Given the description of an element on the screen output the (x, y) to click on. 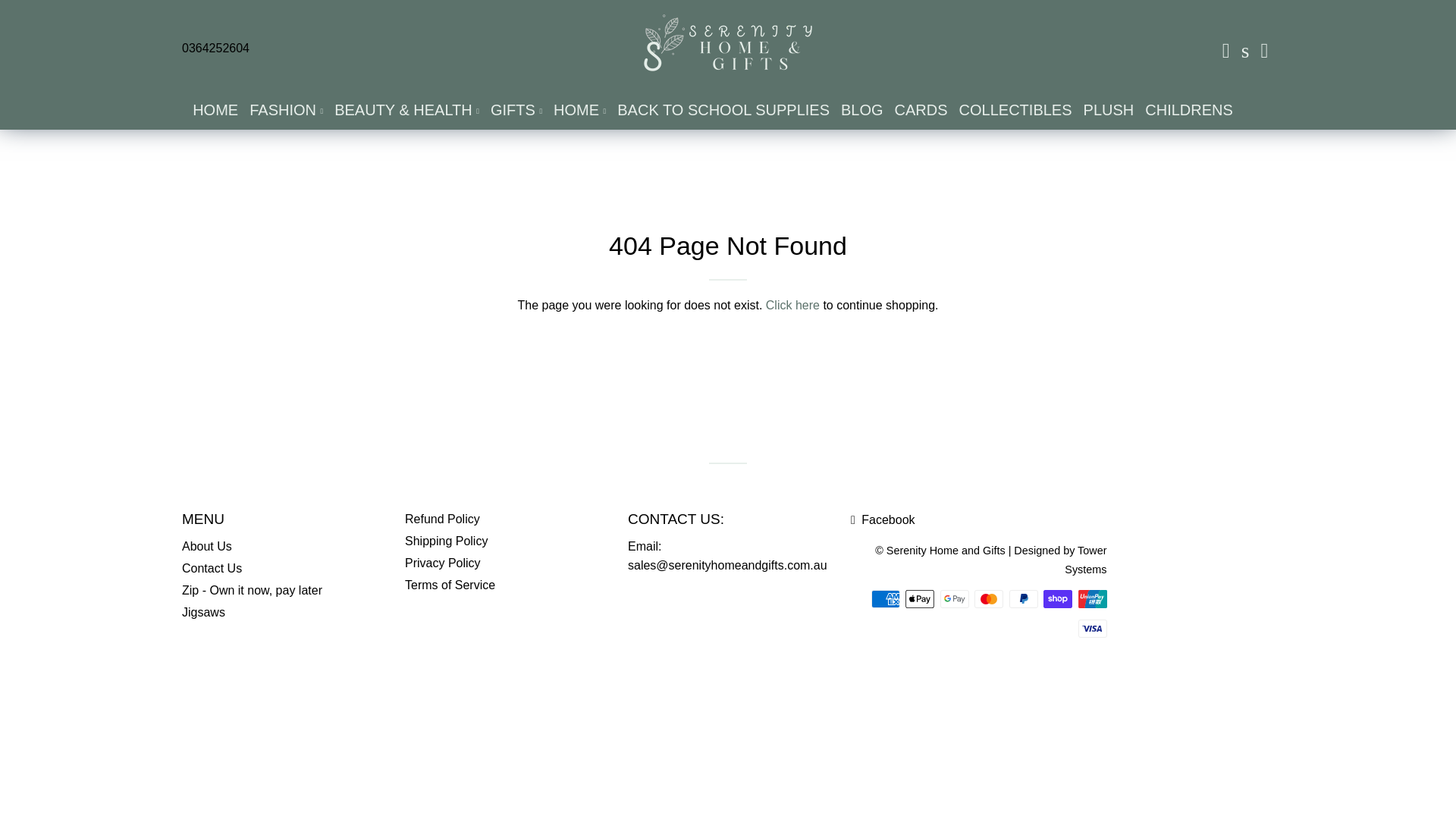
Apple Pay (919, 598)
American Express (884, 598)
Visa (1092, 628)
Mastercard (988, 598)
Google Pay (954, 598)
Union Pay (1092, 598)
Shop Pay (1057, 598)
PayPal (1022, 598)
Serenity Home and Gifts on Facebook (882, 519)
